Given the description of an element on the screen output the (x, y) to click on. 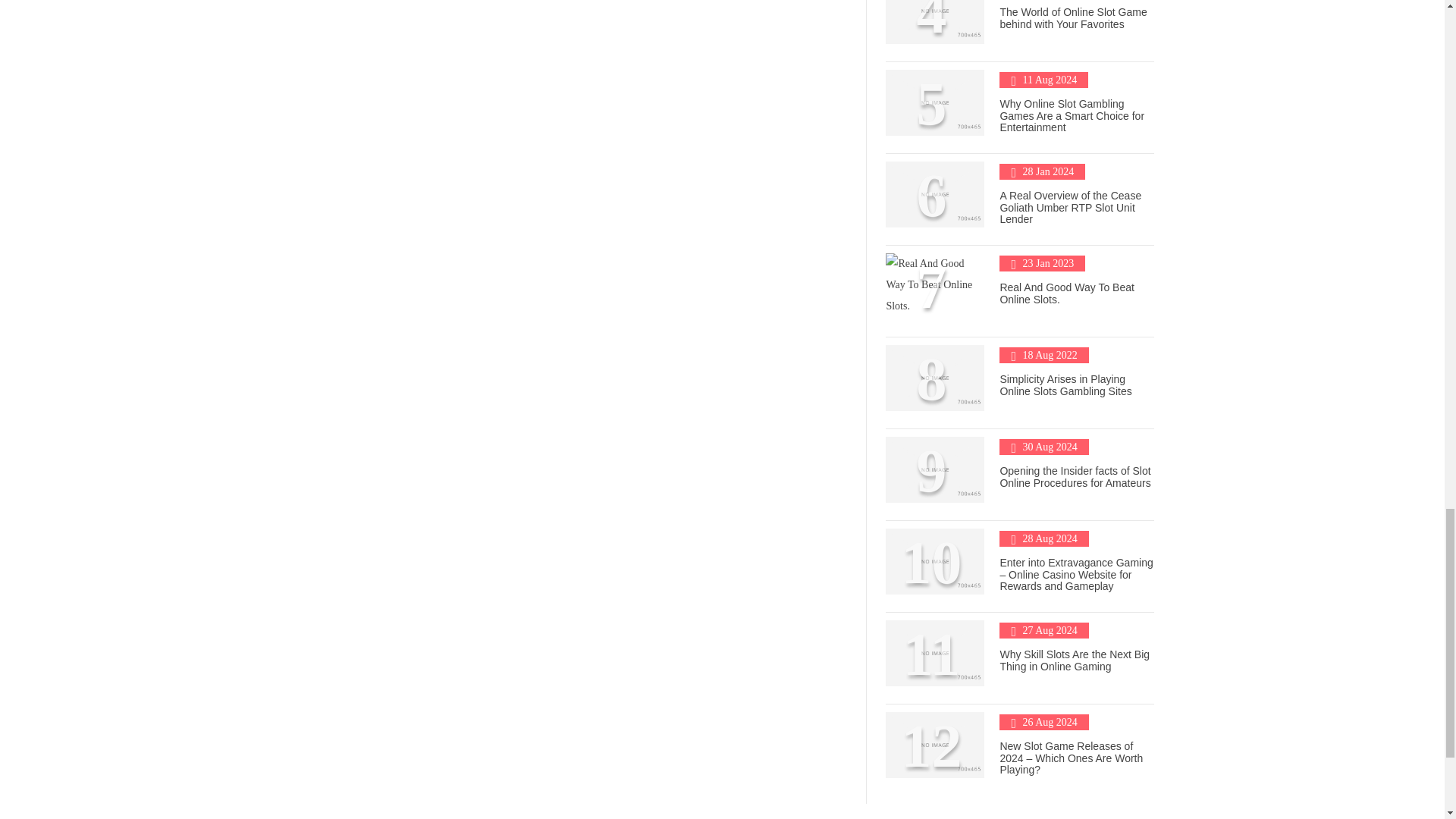
Real And Good Way To Beat Online Slots. (1066, 292)
Simplicity Arises in Playing Online Slots Gambling Sites (1064, 384)
The World of Online Slot Game behind with Your Favorites (1072, 17)
